Given the description of an element on the screen output the (x, y) to click on. 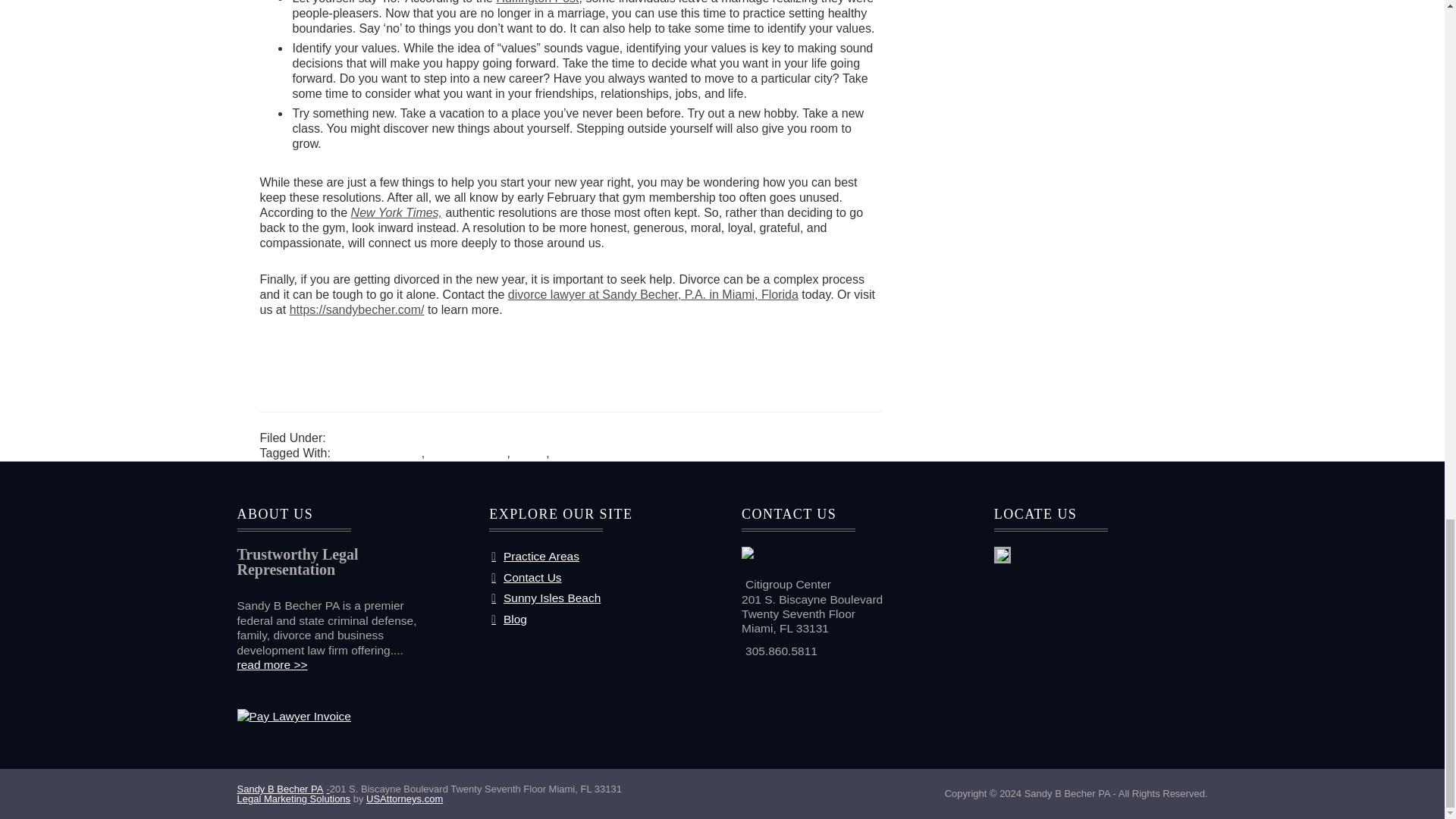
Miami (529, 452)
Sandy B Becher PA (606, 452)
Legal Marketing Solutions (292, 798)
New York Times, (396, 212)
Divorce Lawyer (370, 437)
Contact Us (526, 576)
Sandy B Becher PA (282, 788)
Divorce attorney (376, 452)
divorce lawyer at Sandy Becher, P.A. in Miami, Florida (652, 294)
Divorce lawyer (467, 452)
